Given the description of an element on the screen output the (x, y) to click on. 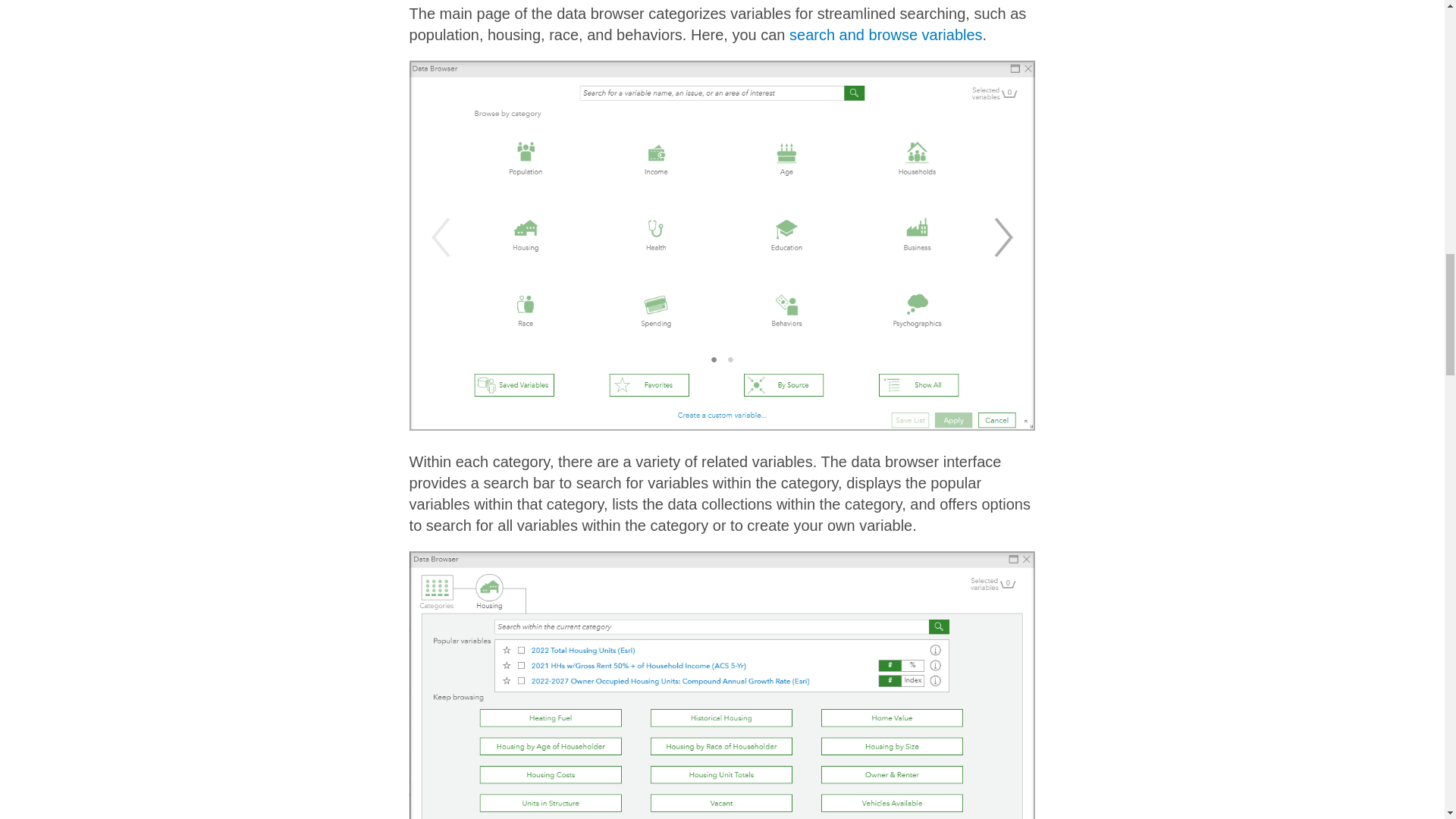
search and browse variables (885, 34)
